Given the description of an element on the screen output the (x, y) to click on. 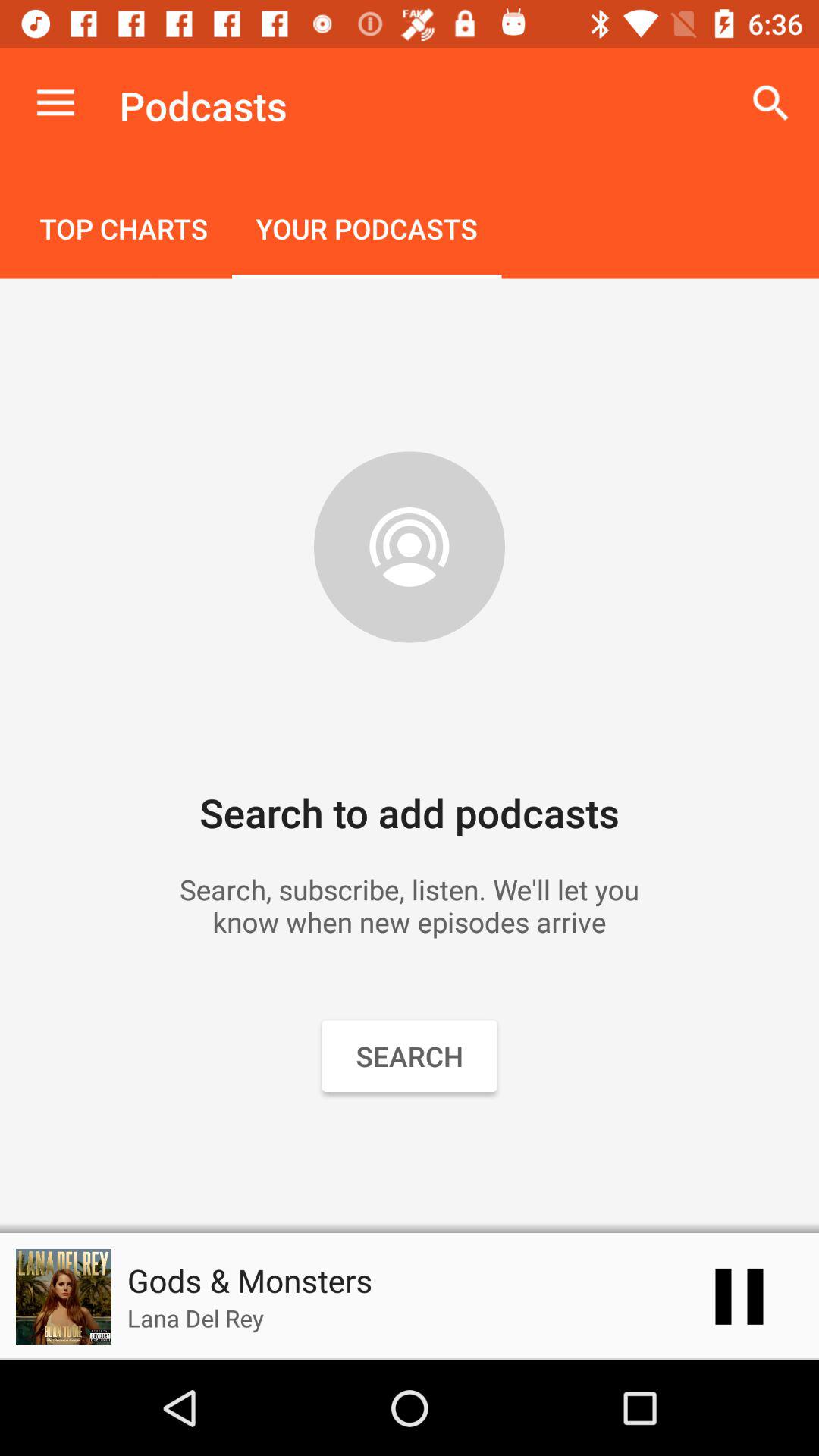
open the item above top charts item (55, 103)
